Given the description of an element on the screen output the (x, y) to click on. 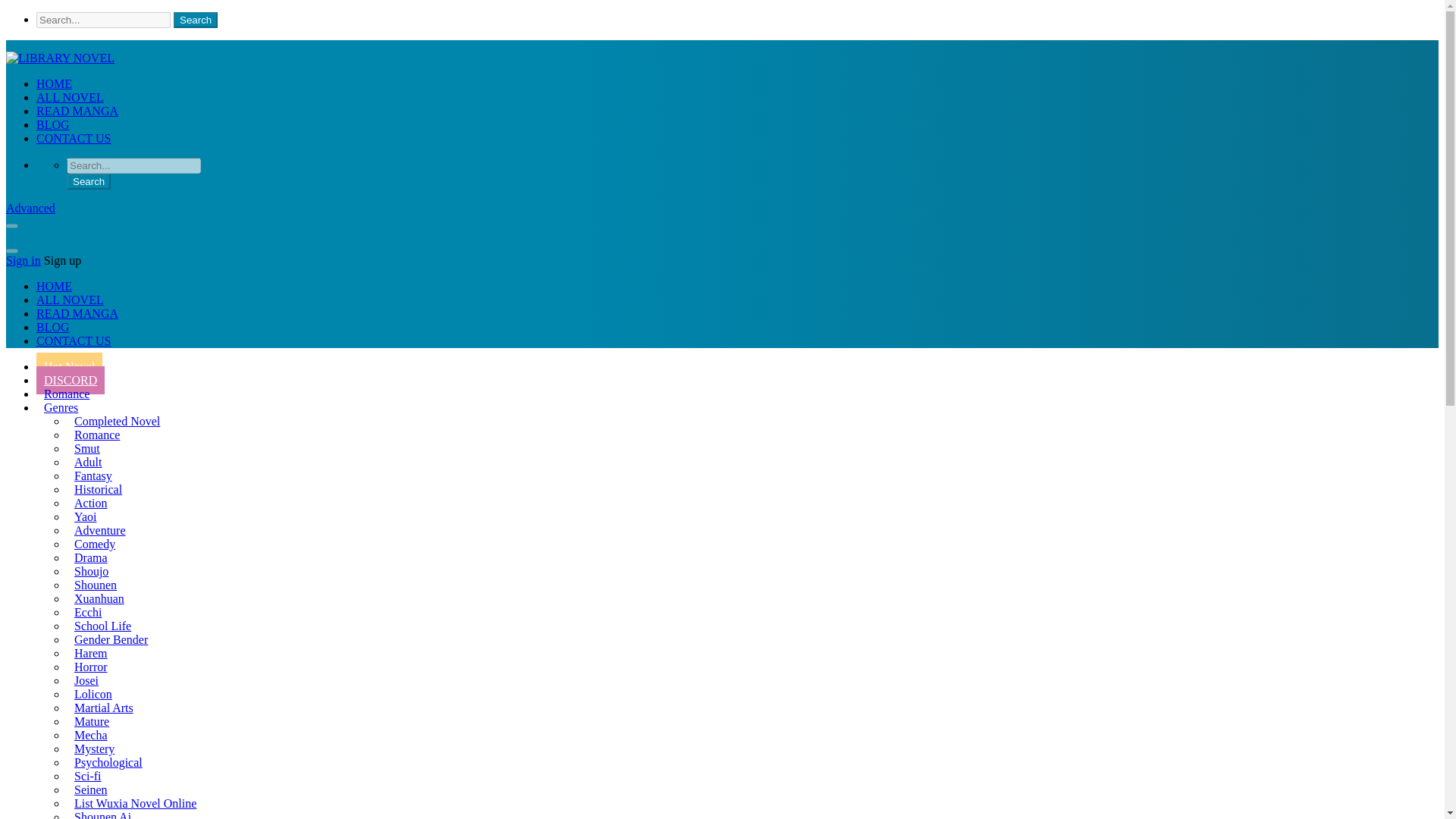
DISCORD (70, 379)
Action (90, 502)
CONTACT US (73, 137)
School Life (102, 625)
Completed Novel (116, 420)
Yaoi (85, 516)
Genres (60, 407)
Xuanhuan (99, 598)
Hot Novel (68, 366)
Shounen (94, 584)
Sign in (22, 259)
ALL NOVEL (69, 97)
Search (88, 181)
READ MANGA (76, 313)
Adult (87, 461)
